Given the description of an element on the screen output the (x, y) to click on. 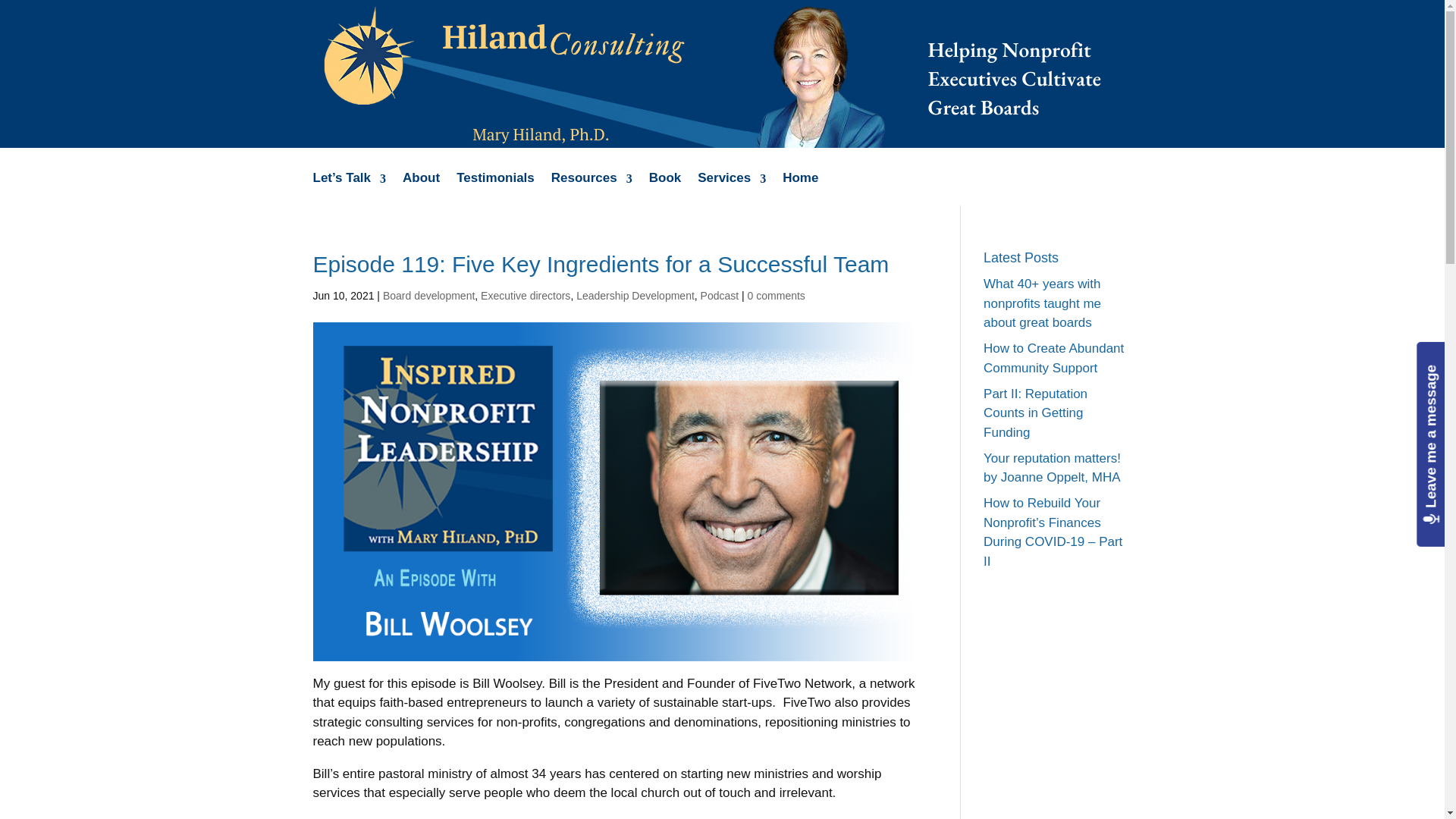
Book (665, 188)
Home (800, 188)
About (421, 188)
Services (731, 188)
Podcast (719, 295)
Leadership Development (635, 295)
Testimonials (495, 188)
final2022 (710, 74)
Resources (591, 188)
Executive directors (525, 295)
Board development (428, 295)
0 comments (776, 295)
